Given the description of an element on the screen output the (x, y) to click on. 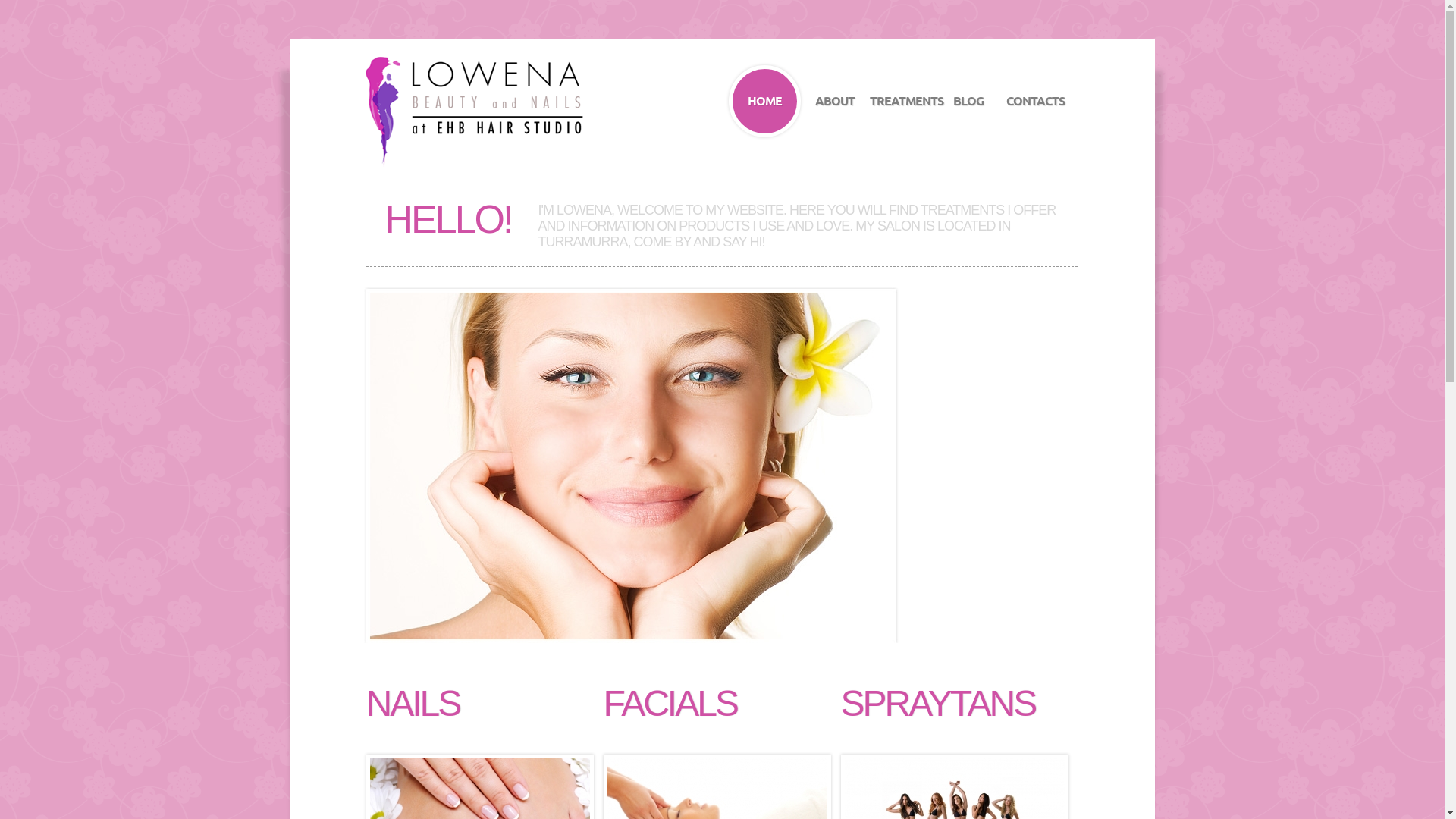
CONTACTS Element type: text (1034, 101)
#counter0 Element type: hover (631, 465)
Continue reading "
							Deluxe Facial" Element type: hover (722, 465)
TREATMENTS Element type: text (901, 101)
SPRAYTANS Element type: text (937, 703)
ABOUT Element type: text (834, 101)
FACIALS Element type: text (670, 703)
BLOG Element type: text (967, 101)
HOME Element type: text (764, 101)
NAILS Element type: text (412, 703)
